Given the description of an element on the screen output the (x, y) to click on. 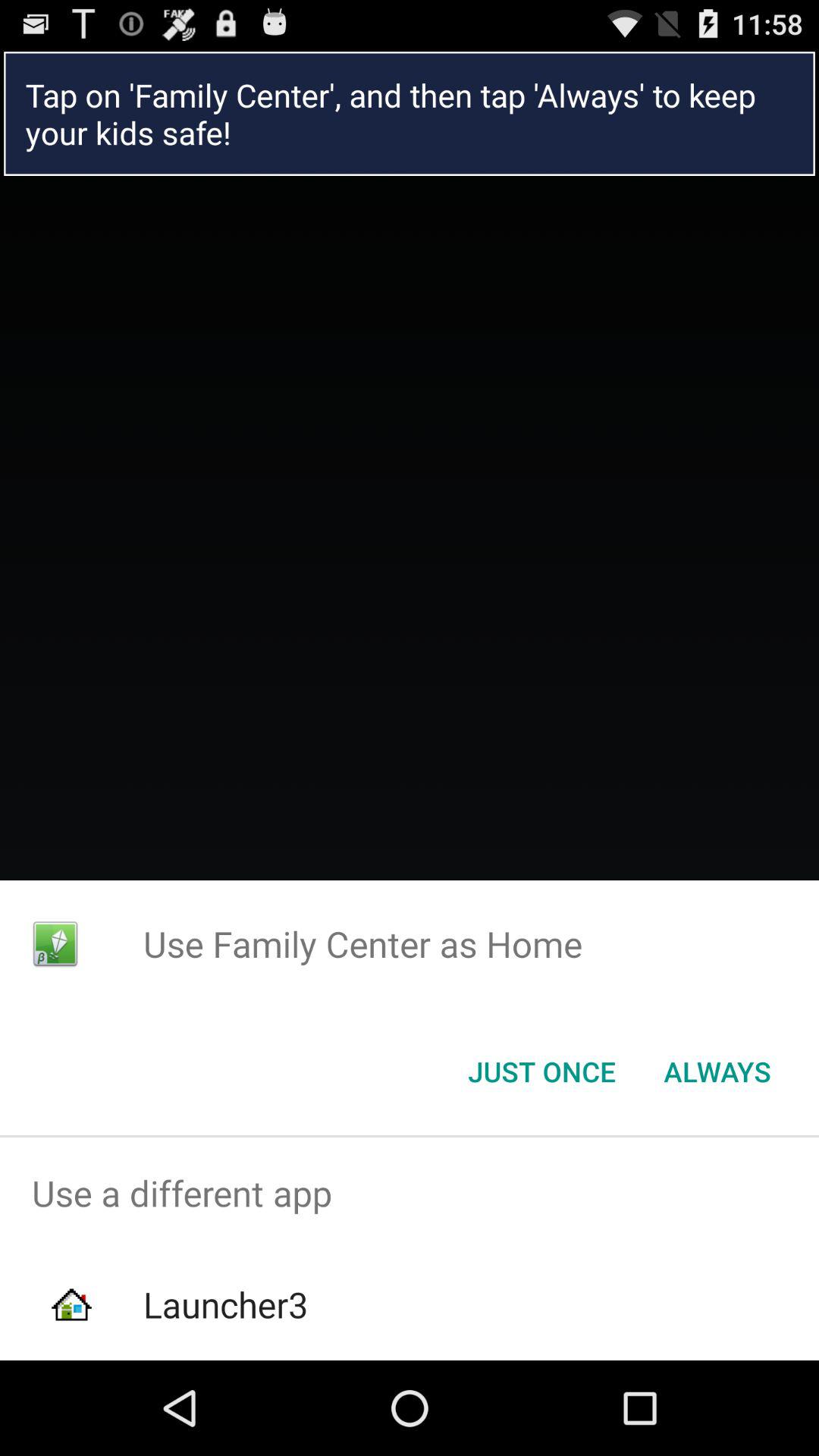
turn off item at the bottom right corner (717, 1071)
